Given the description of an element on the screen output the (x, y) to click on. 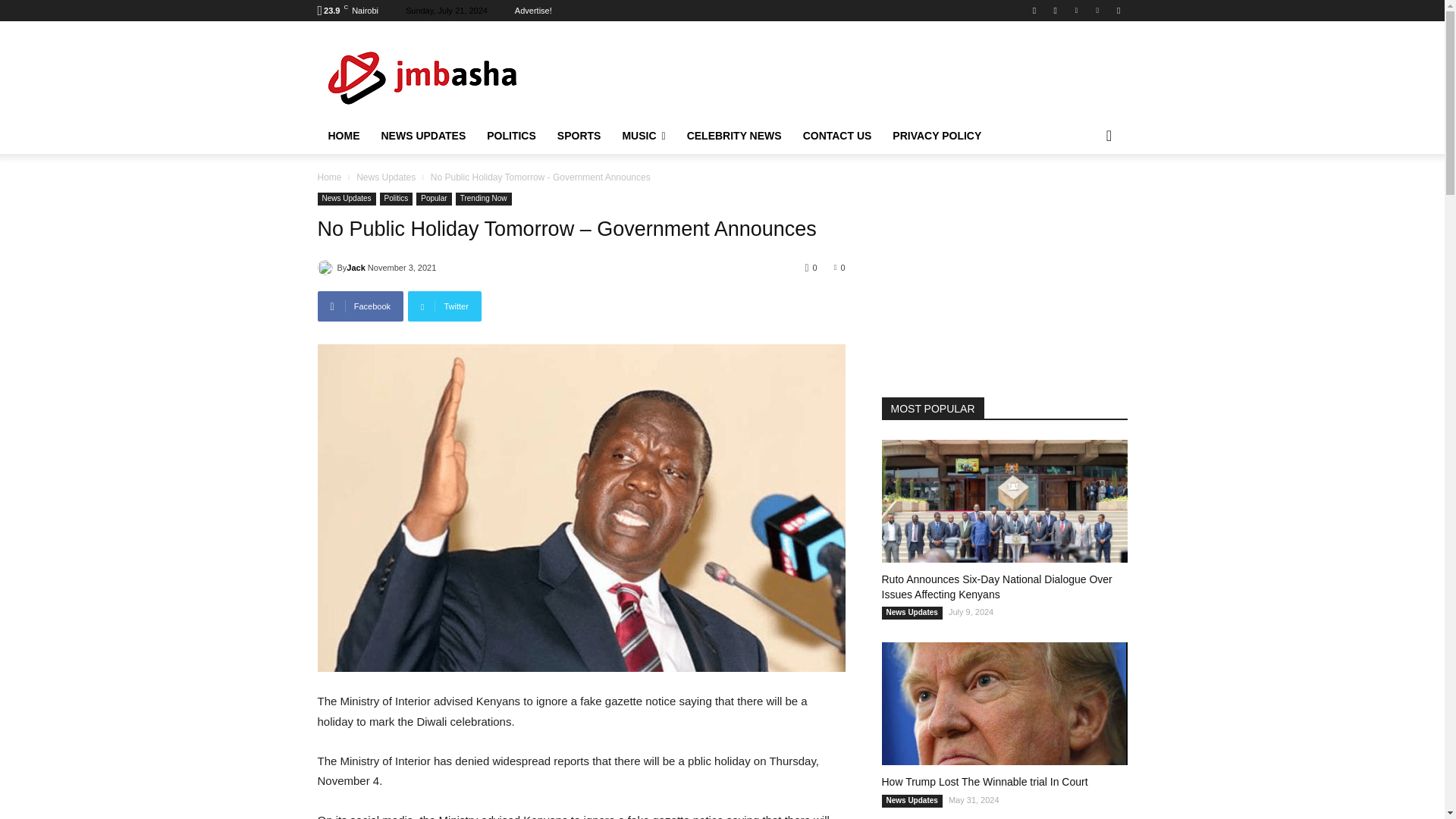
NEWS UPDATES (422, 135)
Advertisement (848, 74)
Advertise! (533, 10)
HOME (343, 135)
POLITICS (511, 135)
